Given the description of an element on the screen output the (x, y) to click on. 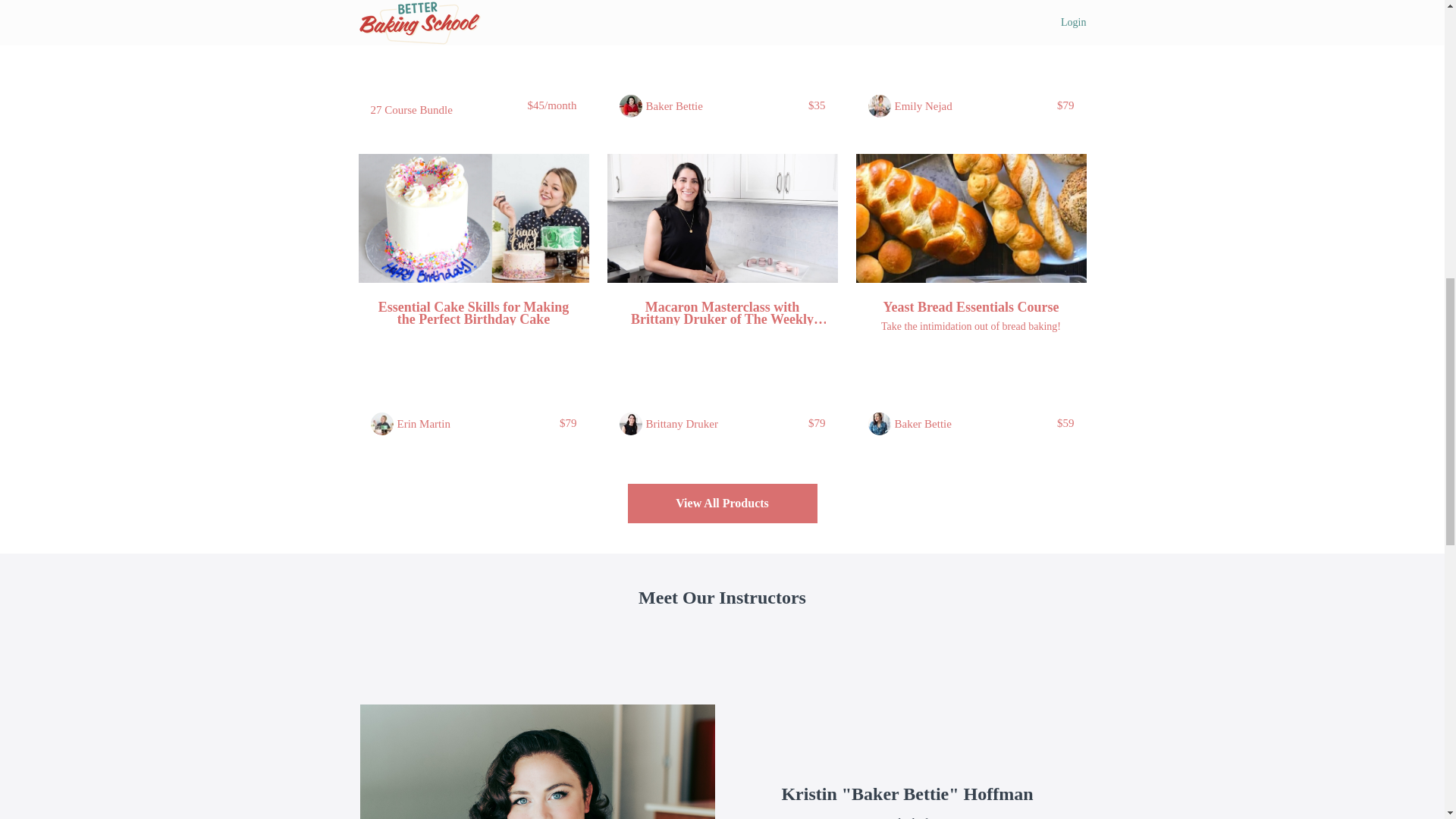
Essential Cake Skills for Making the Perfect Birthday Cake (472, 313)
View All Products (721, 503)
Bon Vivant Shag Cakes with Emily Nejad (970, 3)
Take the intimidation out of bread baking! (970, 326)
Yeast Bread Essentials Course (970, 306)
Brittany Druker (681, 423)
Emily Nejad (923, 106)
View All Products (721, 504)
Erin Martin (423, 423)
Baker Bettie (923, 423)
